Given the description of an element on the screen output the (x, y) to click on. 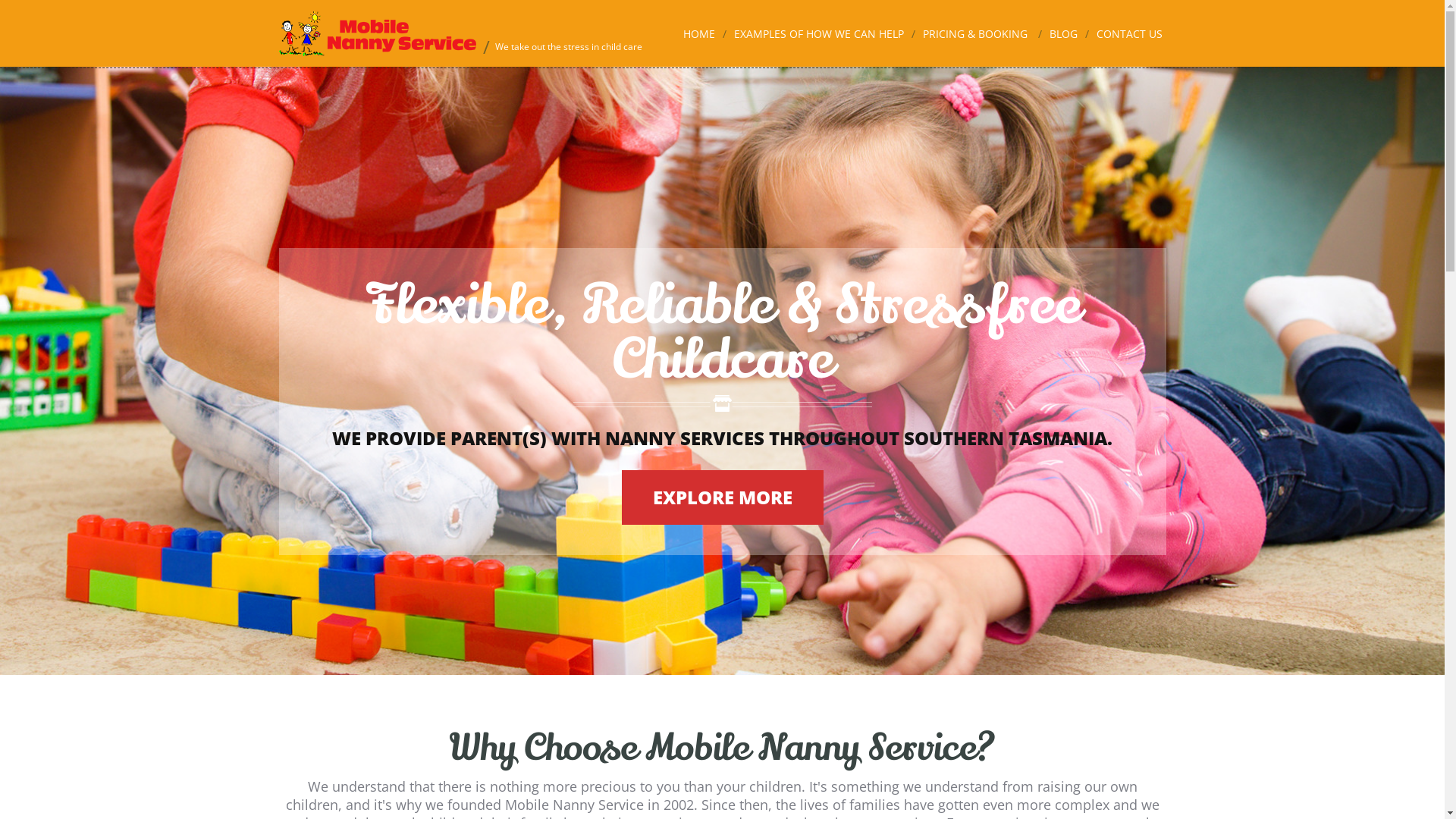
EXPLORE MORE Element type: text (722, 497)
BLOG Element type: text (1063, 34)
EXAMPLES OF HOW WE CAN HELP Element type: text (818, 34)
PRICING & BOOKING Element type: text (974, 34)
CONTACT US Element type: text (1129, 34)
HOME Element type: text (698, 34)
